Given the description of an element on the screen output the (x, y) to click on. 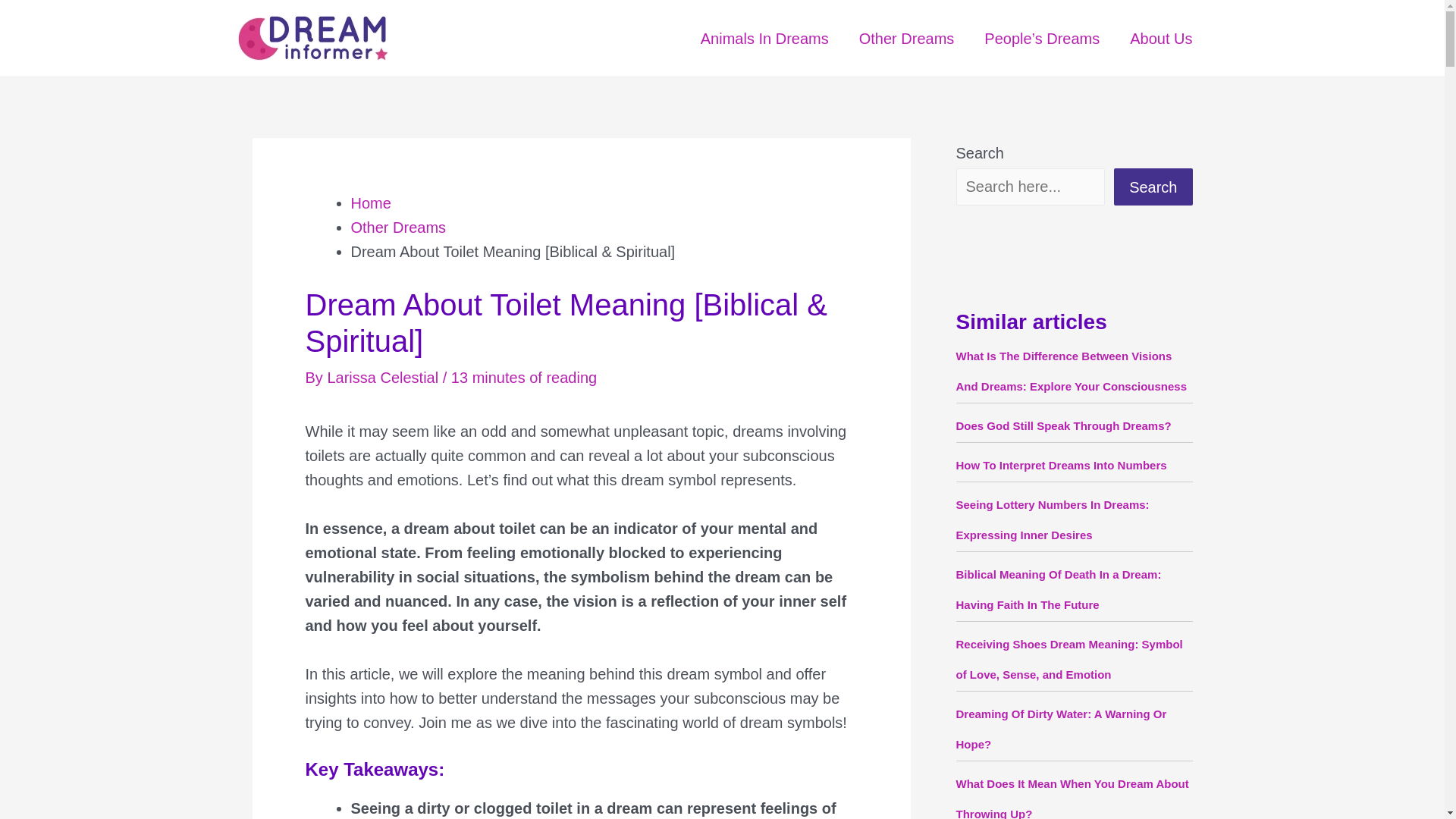
Larissa Celestial (384, 377)
View all posts by Larissa Celestial (384, 377)
About Us (1161, 38)
Other Dreams (397, 227)
Home (370, 202)
Does God Still Speak Through Dreams? (1062, 425)
Other Dreams (906, 38)
How To Interpret Dreams Into Numbers (1060, 464)
What Does It Mean When You Dream About Throwing Up? (1071, 798)
